Given the description of an element on the screen output the (x, y) to click on. 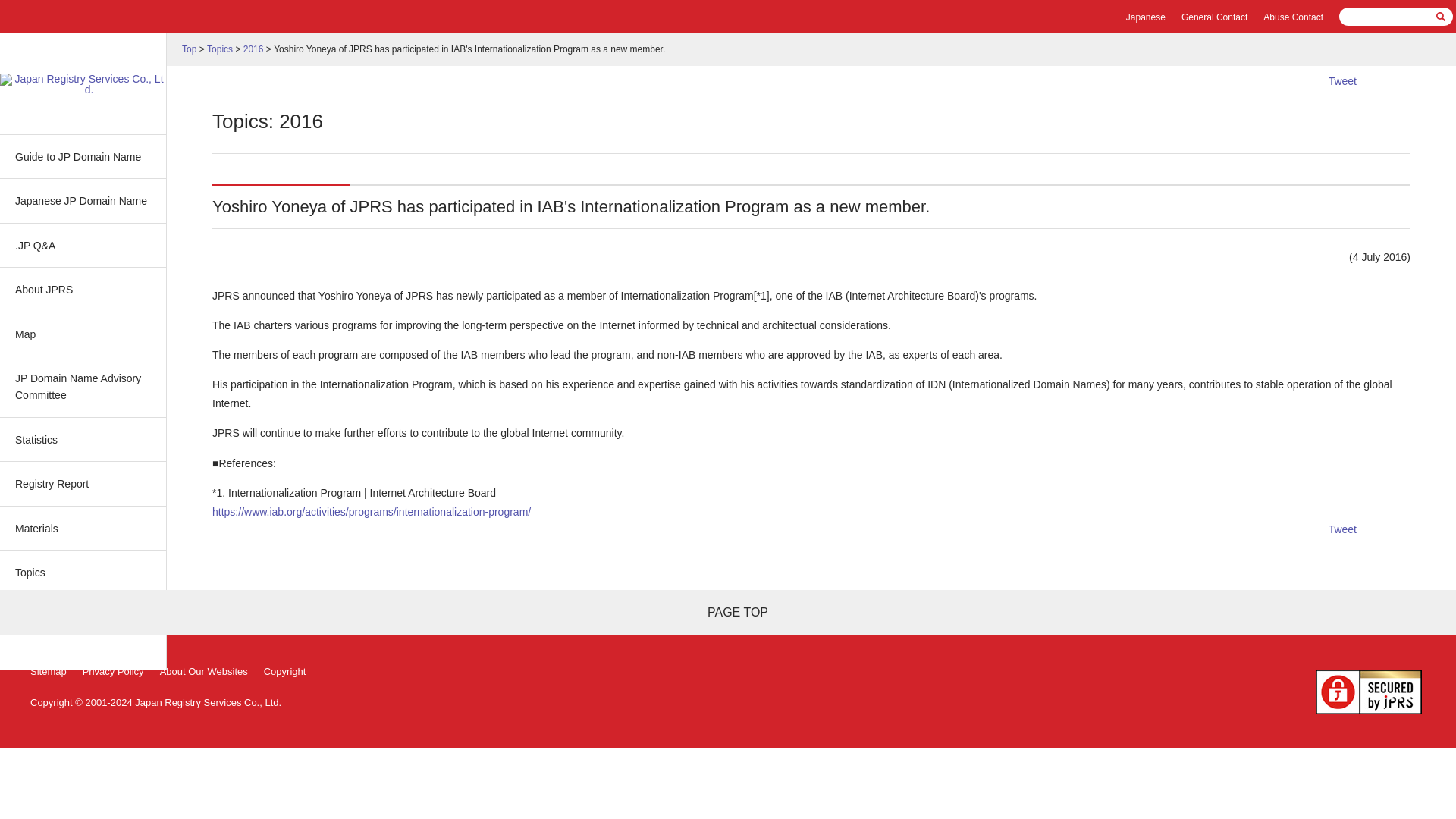
JP Domain Name Advisory Committee (82, 386)
Map (82, 333)
2016 (253, 49)
Top (189, 49)
Statistics (82, 439)
Press Release (82, 616)
Registry Report (82, 483)
Japanese (1145, 17)
Topics (219, 49)
Topics (82, 571)
